Given the description of an element on the screen output the (x, y) to click on. 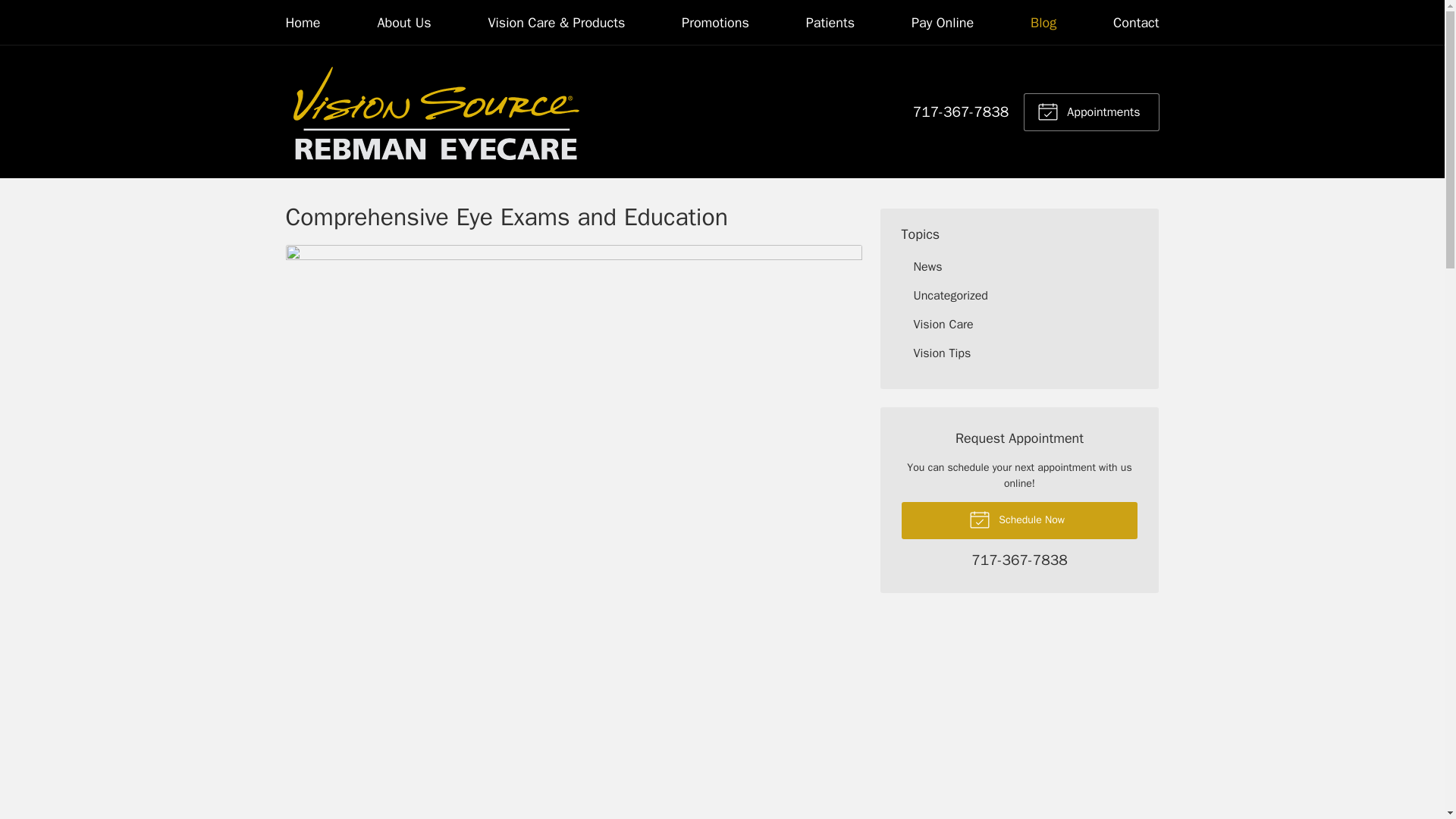
Pay Online (942, 22)
Call practice (960, 112)
Uncategorized (1019, 295)
Appointments (1090, 111)
News (1019, 267)
Schedule Now (1019, 520)
About Us (403, 22)
Vision Tips (1019, 353)
Vision Care (1019, 325)
Rebman Eyecare (436, 111)
Call practice (1019, 561)
Schedule Now (1019, 520)
Contact (1135, 22)
Promotions (715, 22)
717-367-7838 (960, 112)
